Given the description of an element on the screen output the (x, y) to click on. 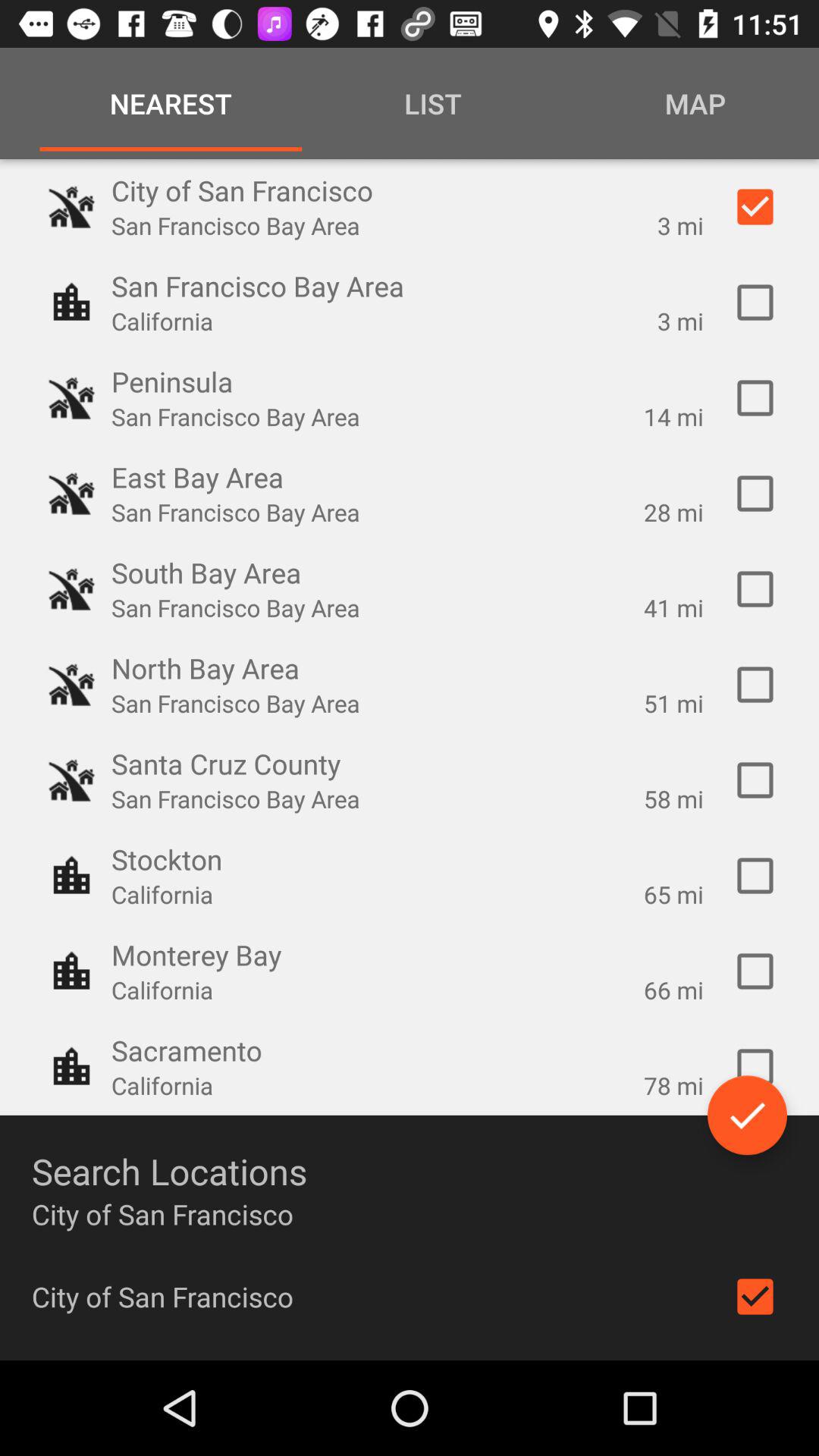
select the next option (755, 302)
